Given the description of an element on the screen output the (x, y) to click on. 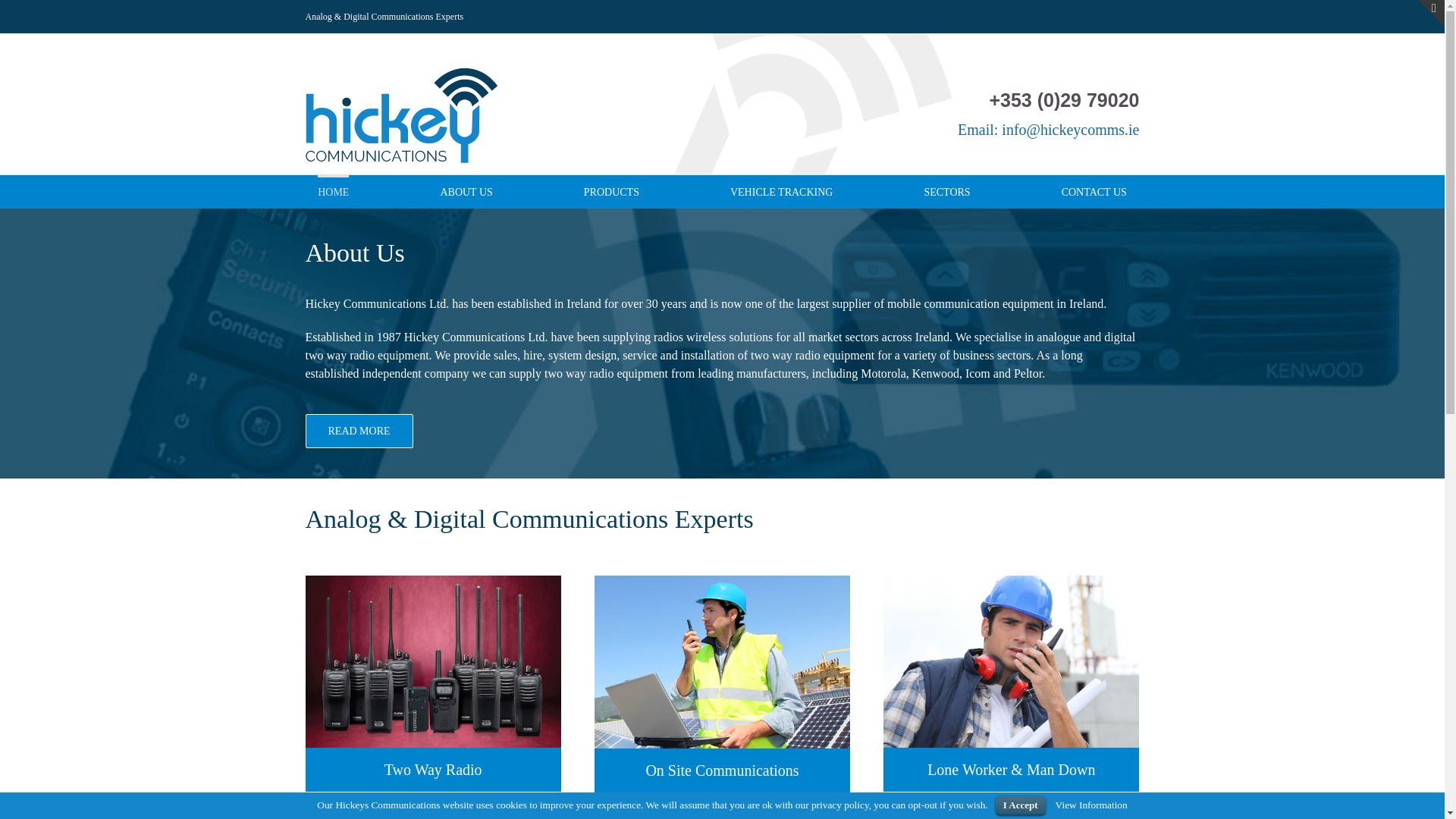
ABOUT US (465, 191)
PRODUCTS (611, 191)
CONTACT US (1093, 191)
SECTORS (946, 191)
About Us (354, 252)
READ MORE (358, 430)
HOME (333, 191)
VEHICLE TRACKING (781, 191)
